Given the description of an element on the screen output the (x, y) to click on. 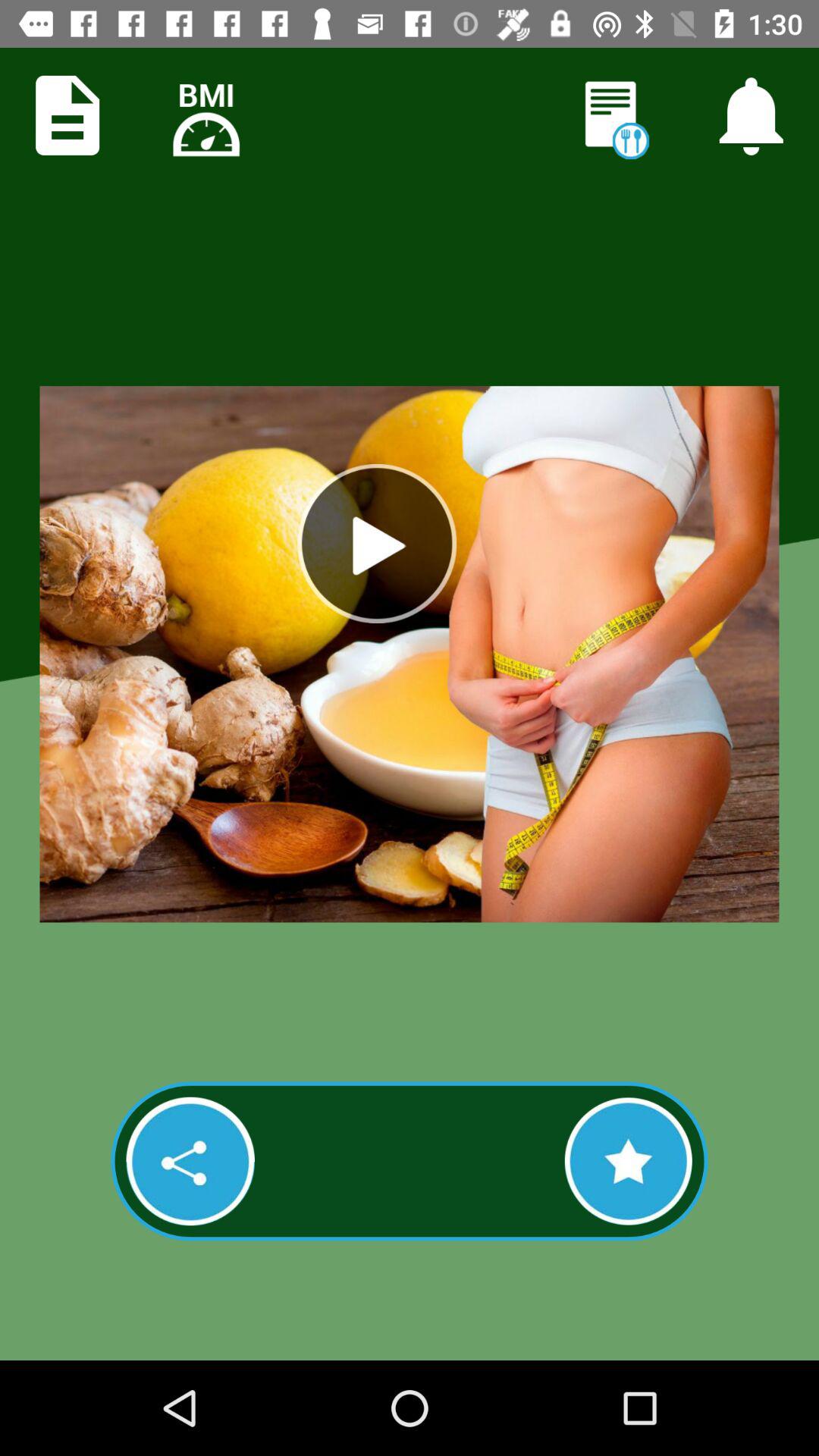
go to play (376, 543)
